Given the description of an element on the screen output the (x, y) to click on. 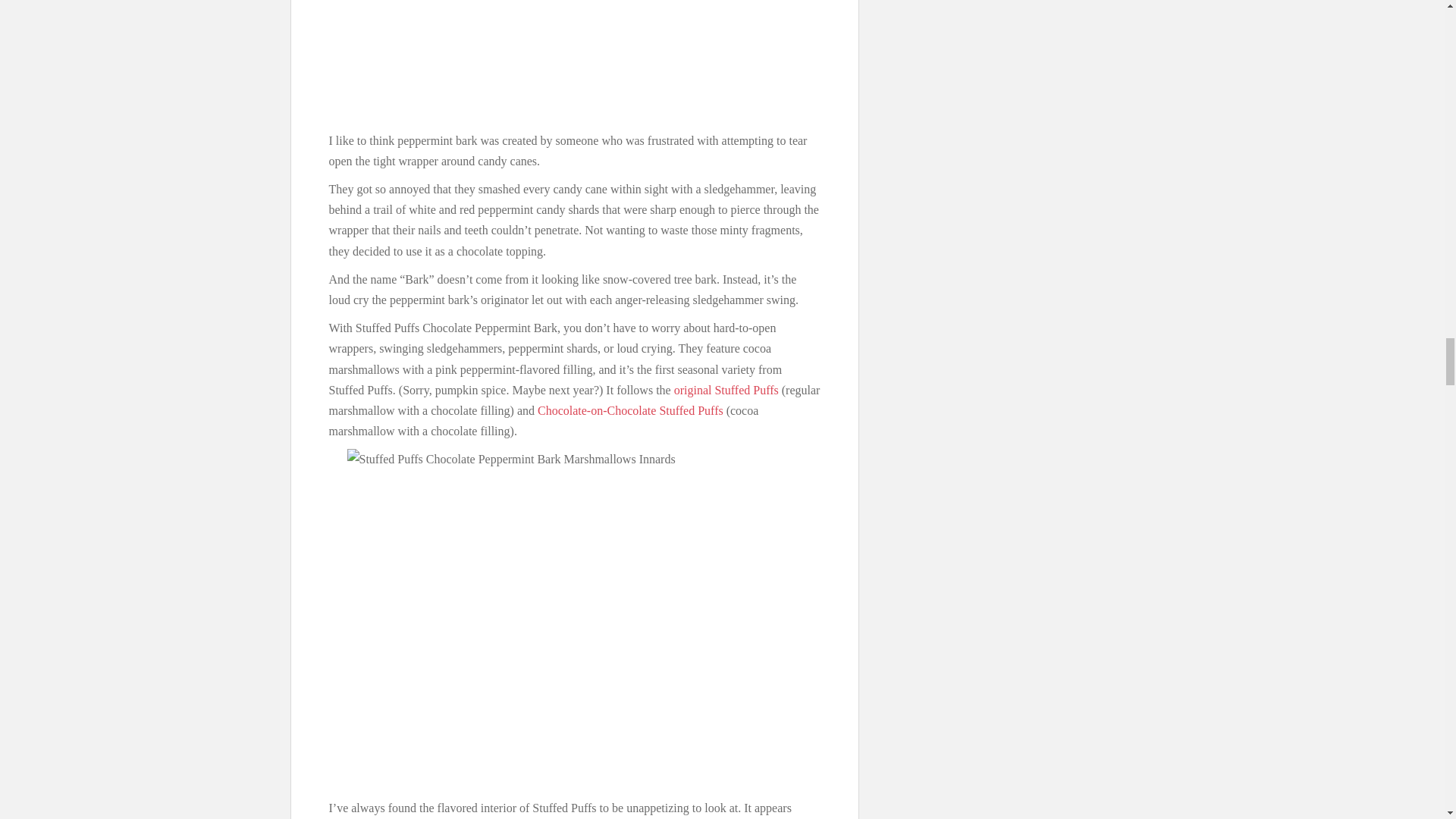
original Stuffed Puffs (726, 390)
Chocolate-on-Chocolate Stuffed Puffs (630, 410)
